Given the description of an element on the screen output the (x, y) to click on. 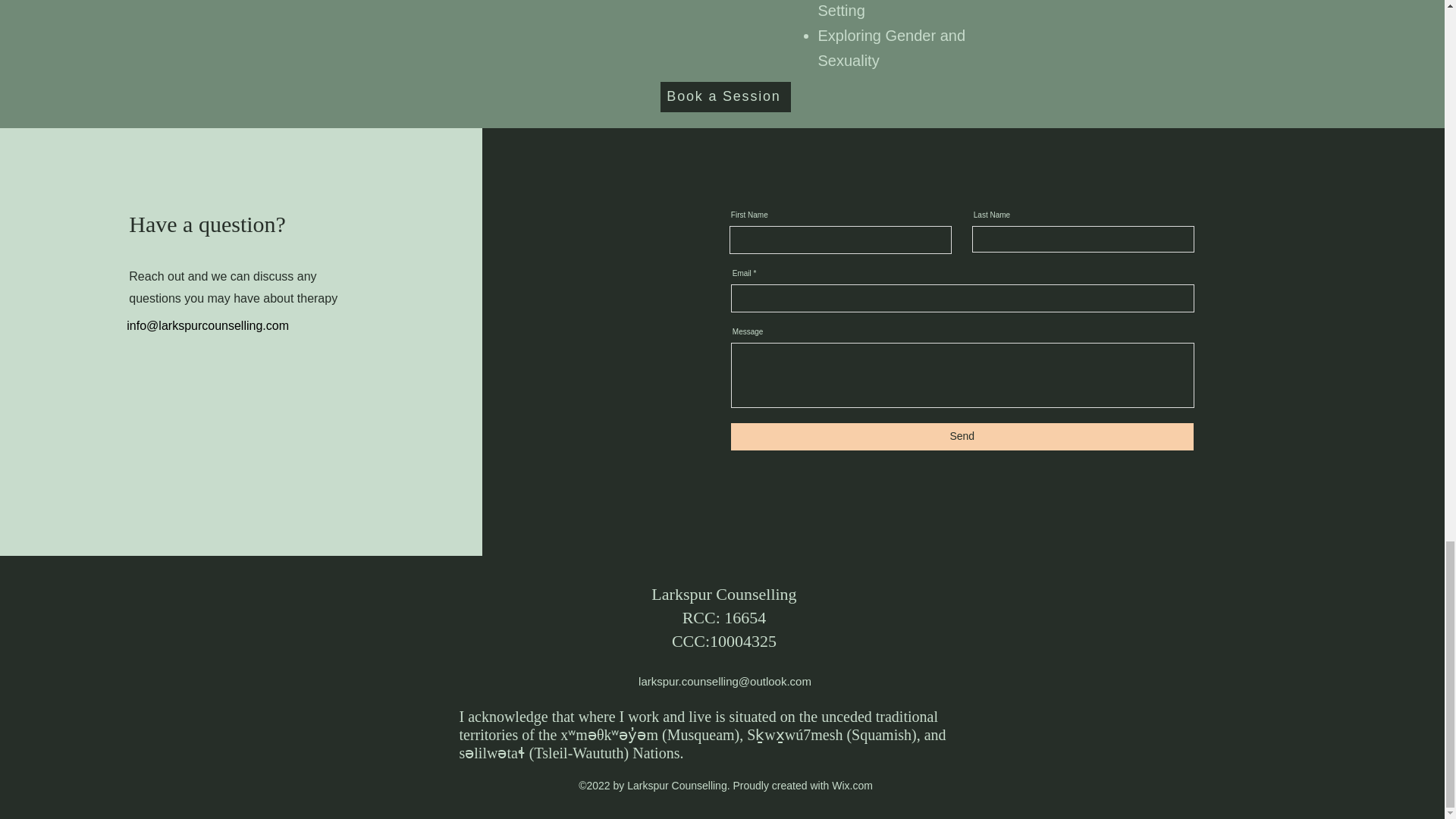
Book a Session (724, 96)
Send (961, 436)
